Given the description of an element on the screen output the (x, y) to click on. 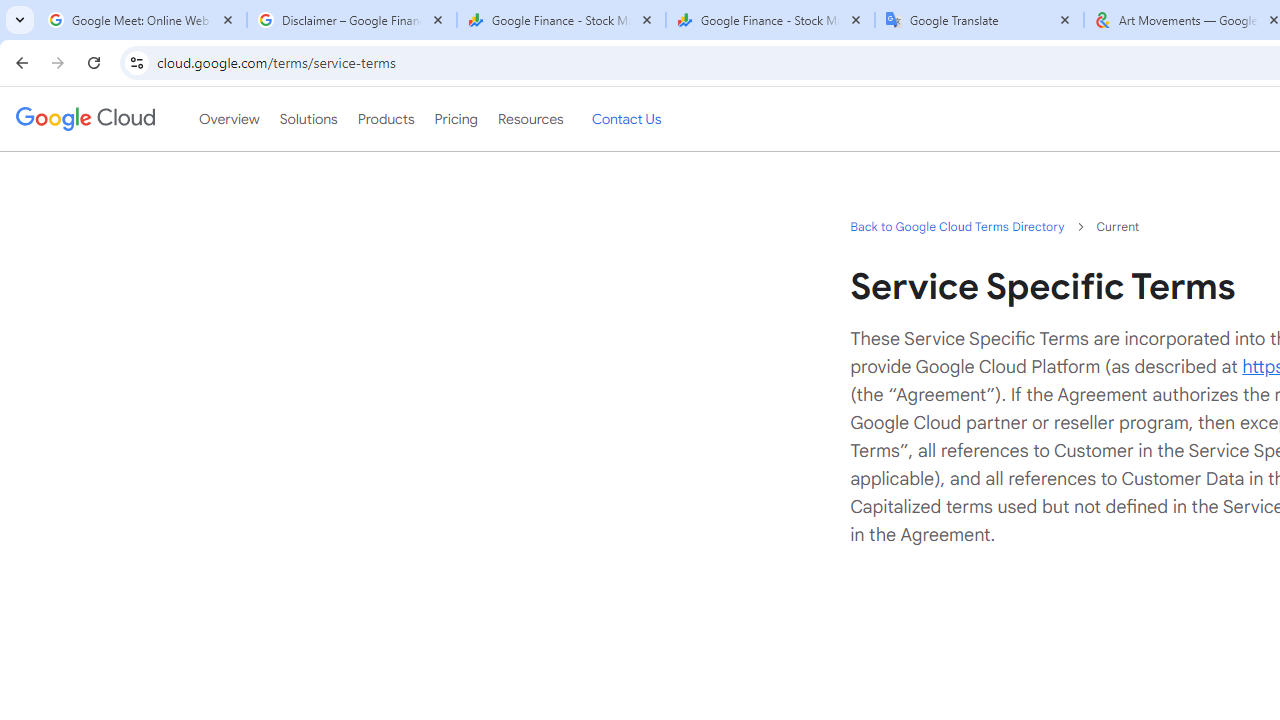
Google Translate (979, 20)
